Given the description of an element on the screen output the (x, y) to click on. 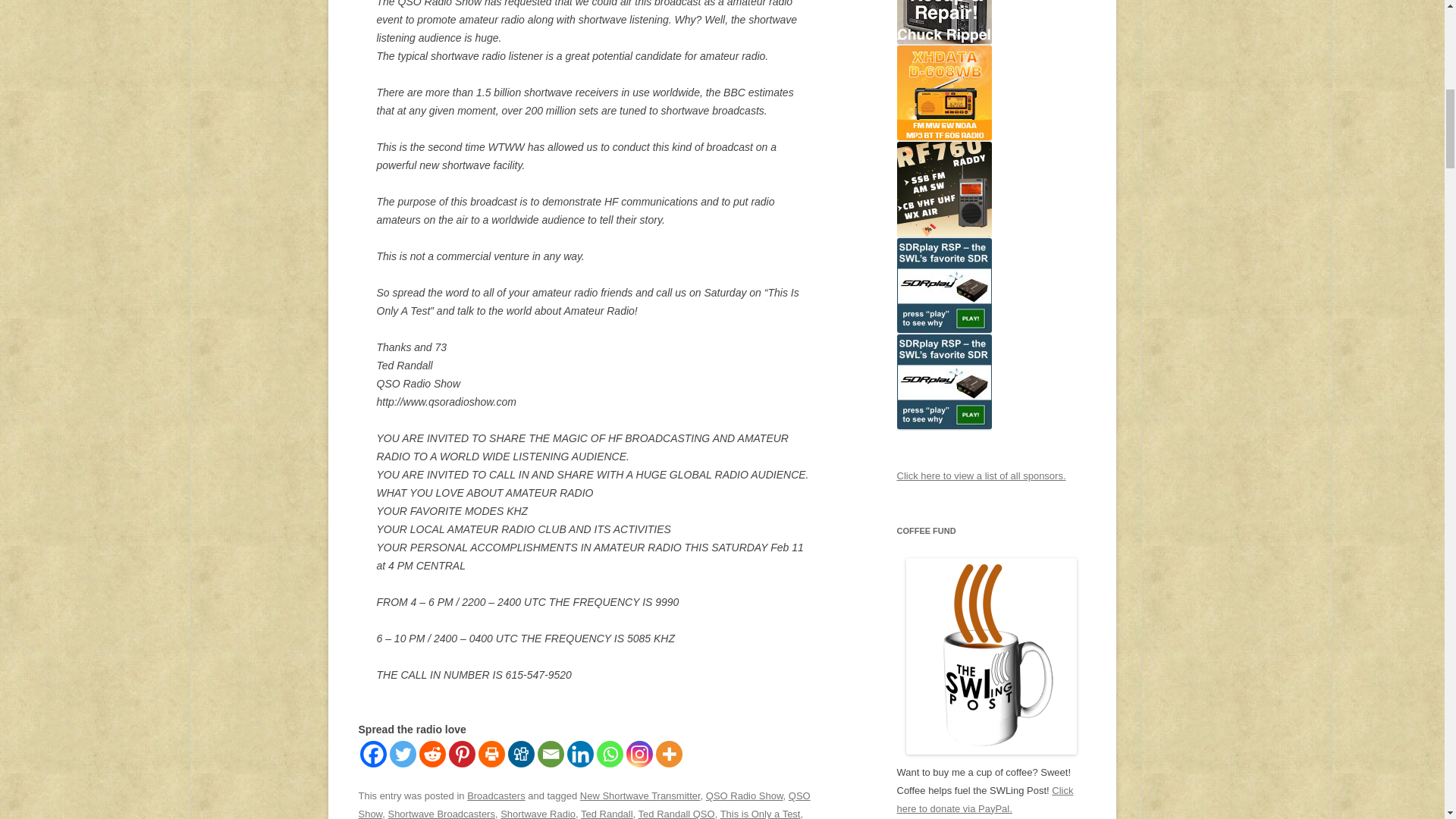
Facebook (372, 754)
Shortwave Radio (537, 813)
Email (550, 754)
Digg (521, 754)
More (668, 754)
This is Only a Test (760, 813)
Ted Randall (606, 813)
Whatsapp (609, 754)
Reddit (432, 754)
Pinterest (462, 754)
New Shortwave Transmitter (639, 795)
QSO Radio Show (744, 795)
Instagram (639, 754)
Shortwave Broadcasters (441, 813)
Linkedin (580, 754)
